Given the description of an element on the screen output the (x, y) to click on. 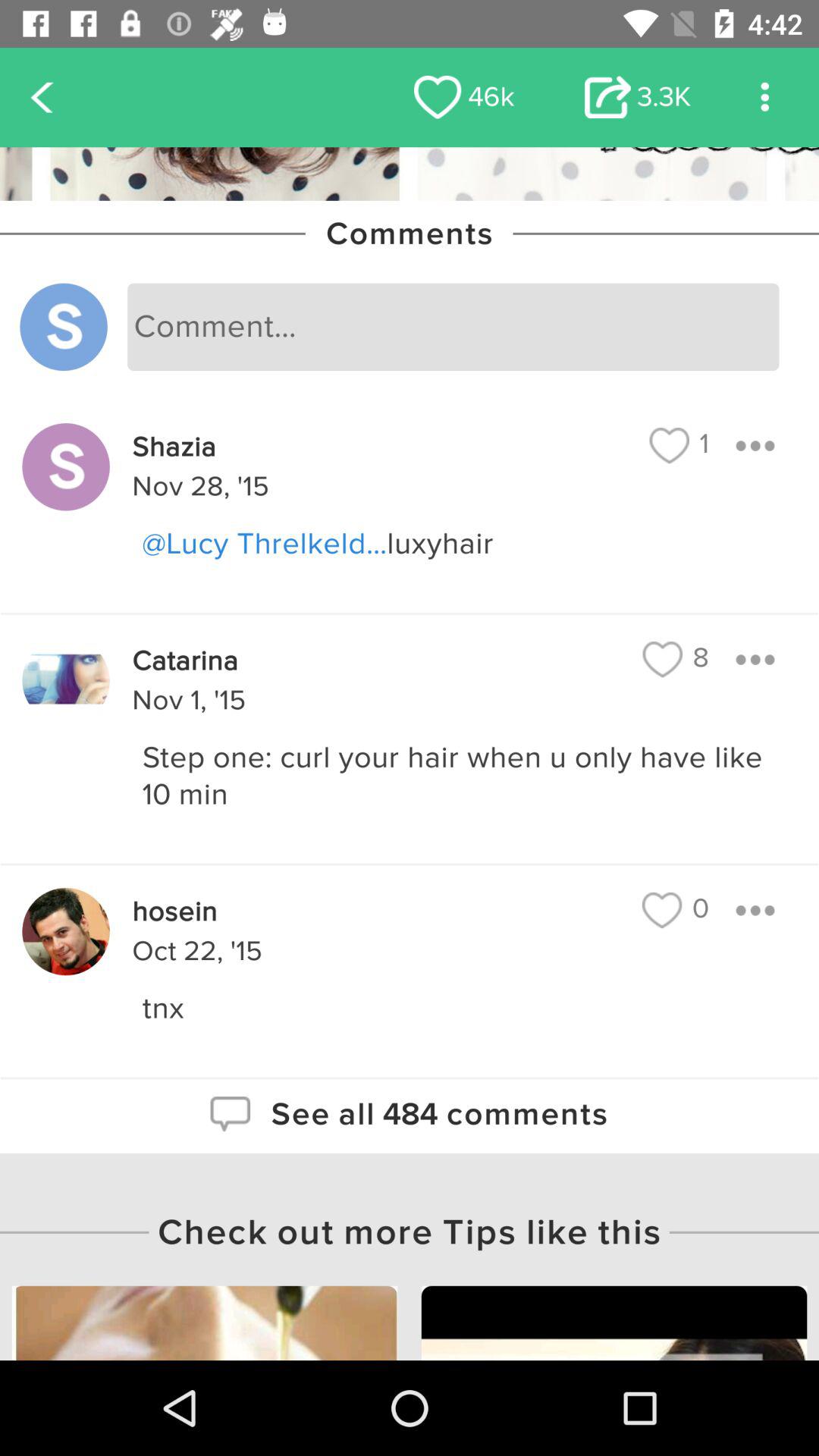
get more options for comment (755, 659)
